Given the description of an element on the screen output the (x, y) to click on. 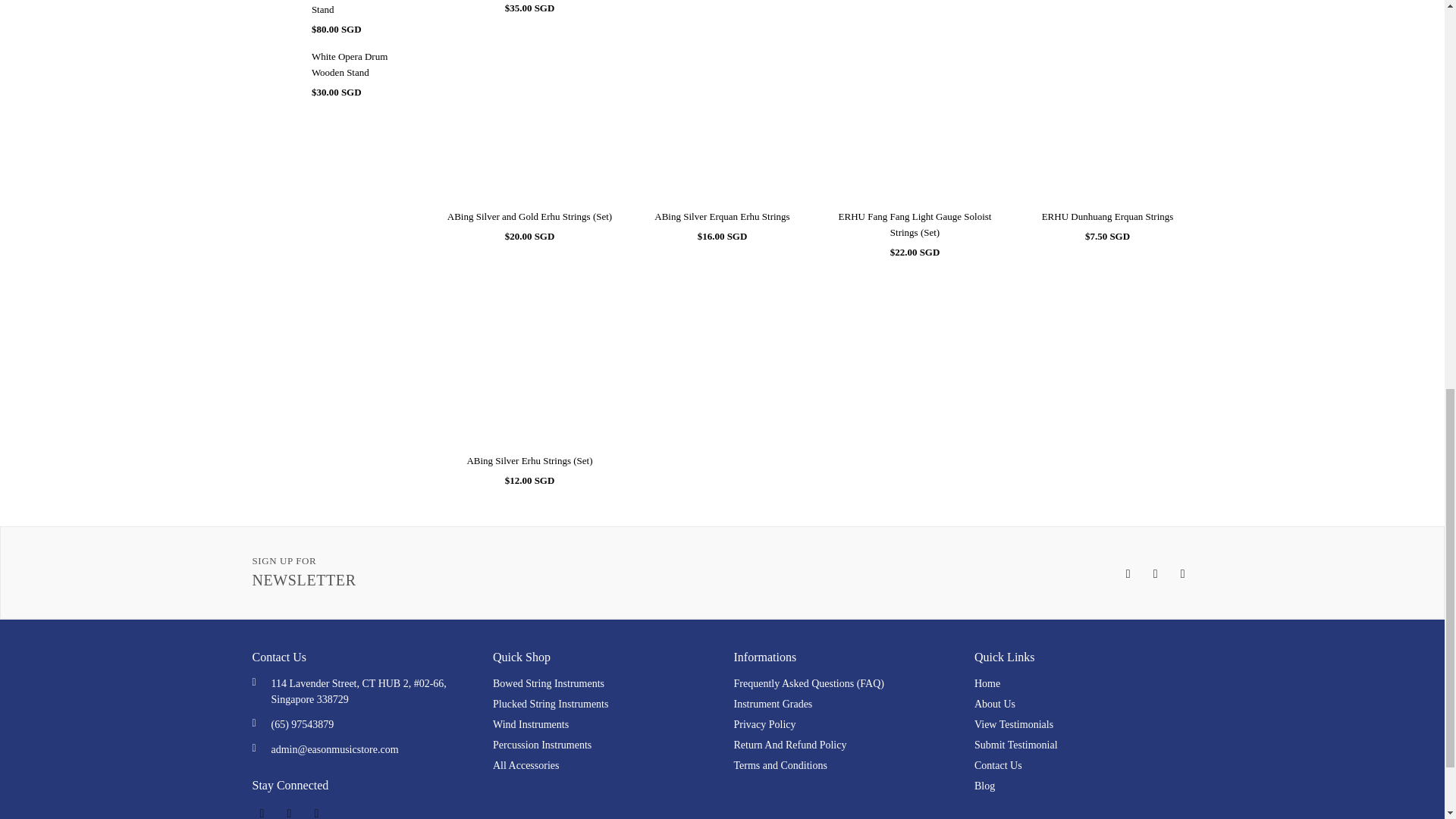
Eason Music Store on Facebook (1123, 572)
